Given the description of an element on the screen output the (x, y) to click on. 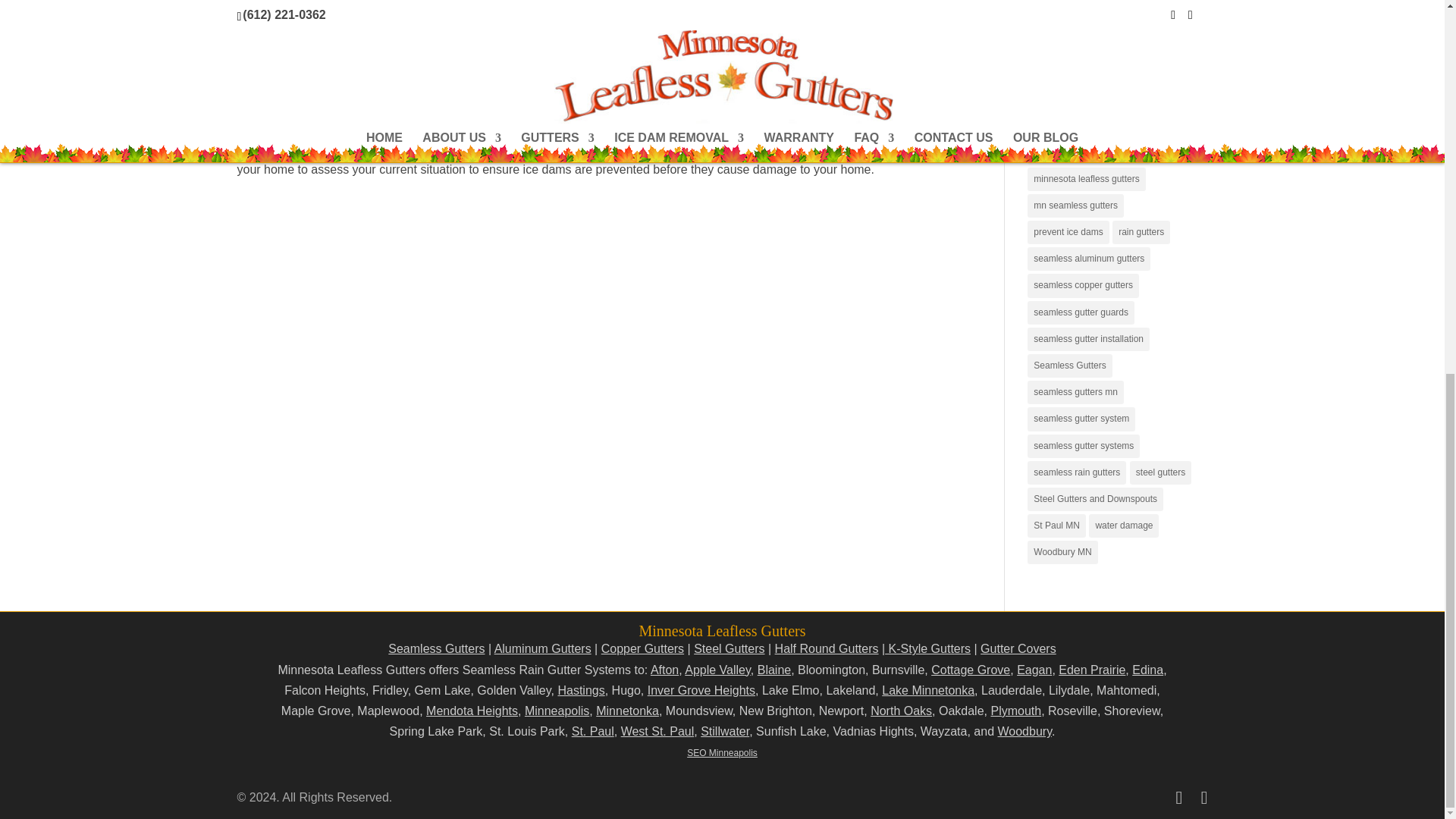
Leafless Seamless Gutters Minnetonka MN (627, 710)
Seamless Gutters Inver Grove Heights (701, 689)
Seamless Gutter Guards Woodbury MN (1024, 730)
Leafless Seamless Gutters Cottage Grove MN (970, 669)
Seamless Gutters St Paul MN (593, 730)
Seamless Gutters West St Paul MN (657, 730)
Minneapolis Search Engine Optimization Services (722, 752)
Leafless Seamless Gutters Afton MN (664, 669)
Leafless Seamless Gutters North Oaks (900, 710)
Seamless Gutters Minneapolis (556, 710)
